Given the description of an element on the screen output the (x, y) to click on. 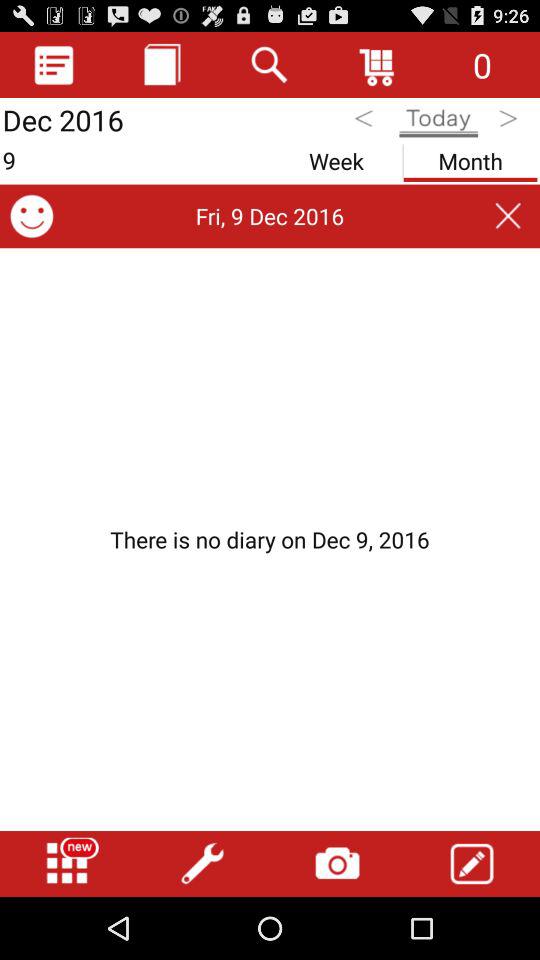
view month (470, 157)
